Given the description of an element on the screen output the (x, y) to click on. 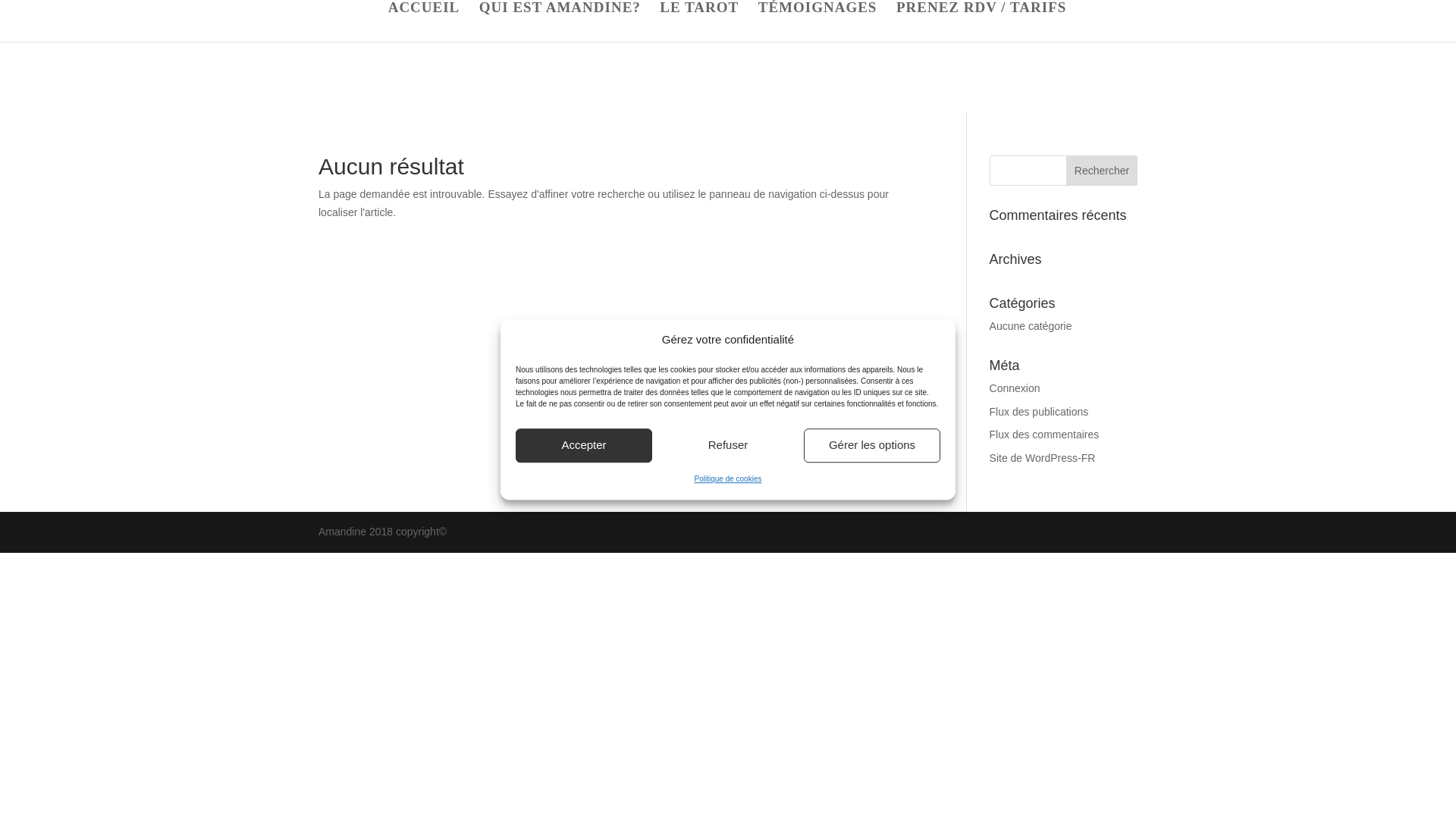
LE TAROT (698, 21)
Flux des publications (1039, 411)
Connexion (1015, 387)
Refuser (727, 445)
Rechercher (1101, 170)
Rechercher (1101, 170)
Flux des commentaires (1044, 434)
Accepter (583, 445)
ACCUEIL (424, 21)
Politique de cookies (727, 479)
QUI EST AMANDINE? (559, 21)
Site de WordPress-FR (1043, 458)
